Given the description of an element on the screen output the (x, y) to click on. 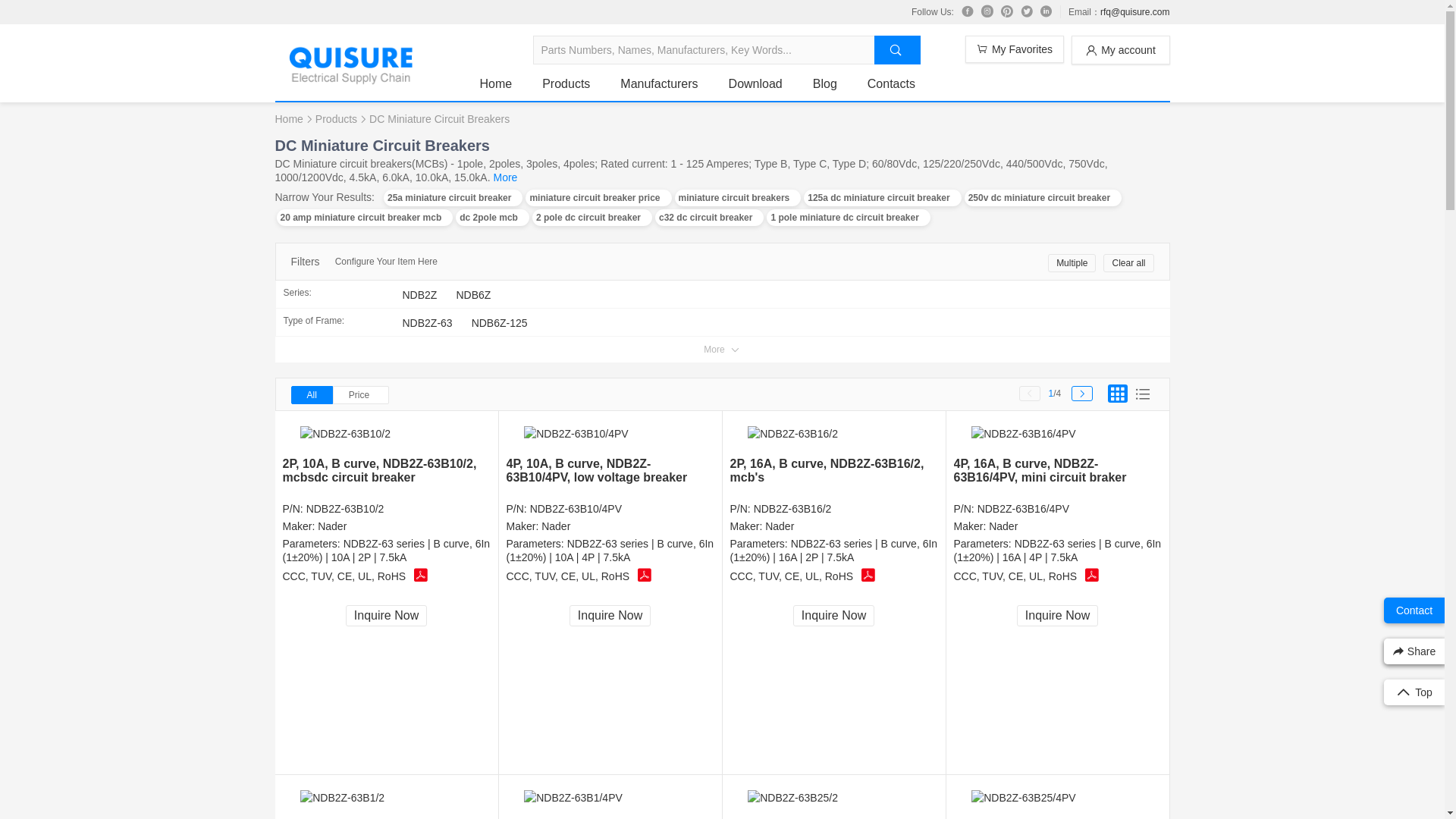
twitter (1026, 11)
Download (756, 83)
Products (565, 83)
Products (335, 118)
Home (495, 83)
NDB2Z (418, 294)
Blog (824, 83)
25a miniature circuit breaker (453, 197)
miniature circuit breakers (738, 197)
Home (495, 83)
products (565, 83)
Quisure (350, 78)
Multiple (1072, 262)
Contacts (891, 83)
linkedin (1046, 11)
